Given the description of an element on the screen output the (x, y) to click on. 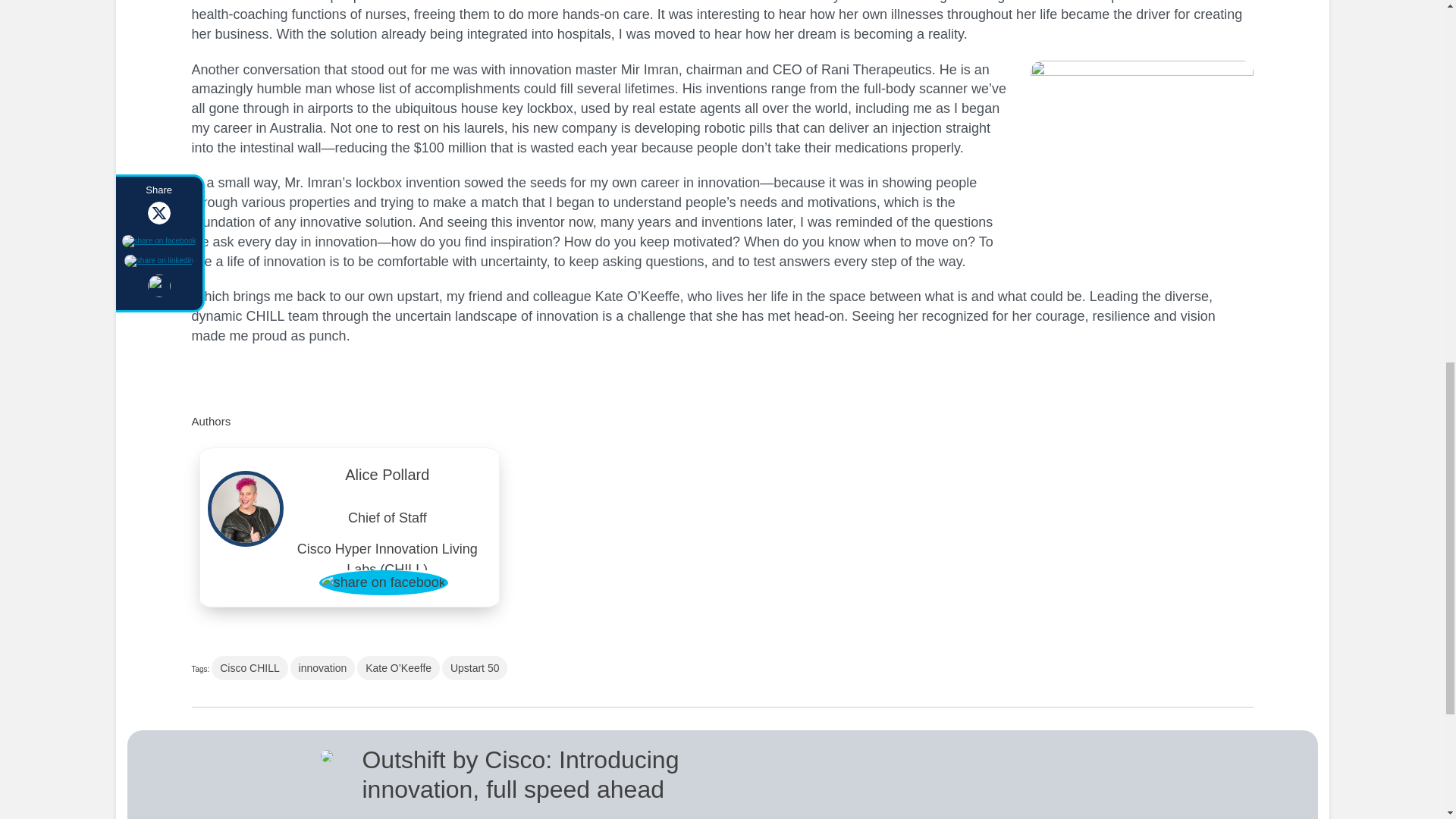
Alice Pollard (387, 478)
innovation (322, 668)
Cisco CHILL (249, 668)
Upstart 50 (475, 668)
